Given the description of an element on the screen output the (x, y) to click on. 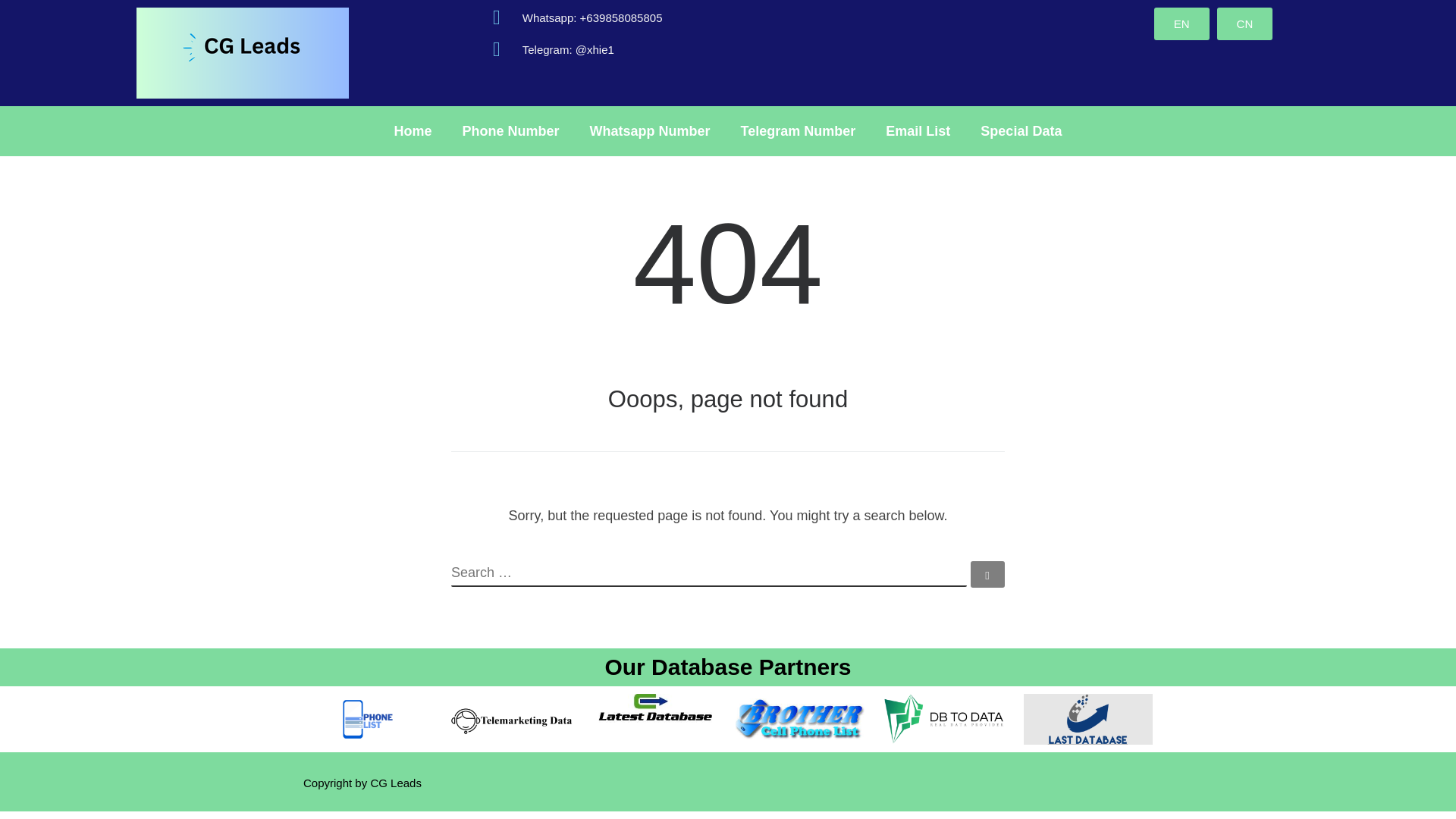
Whatsapp Number (650, 130)
Email List (917, 130)
Phone Number (510, 130)
EN (1181, 23)
CG Leads (395, 782)
CN (1244, 23)
Telegram Number (797, 130)
Home (412, 130)
Special Data (1021, 130)
